Given the description of an element on the screen output the (x, y) to click on. 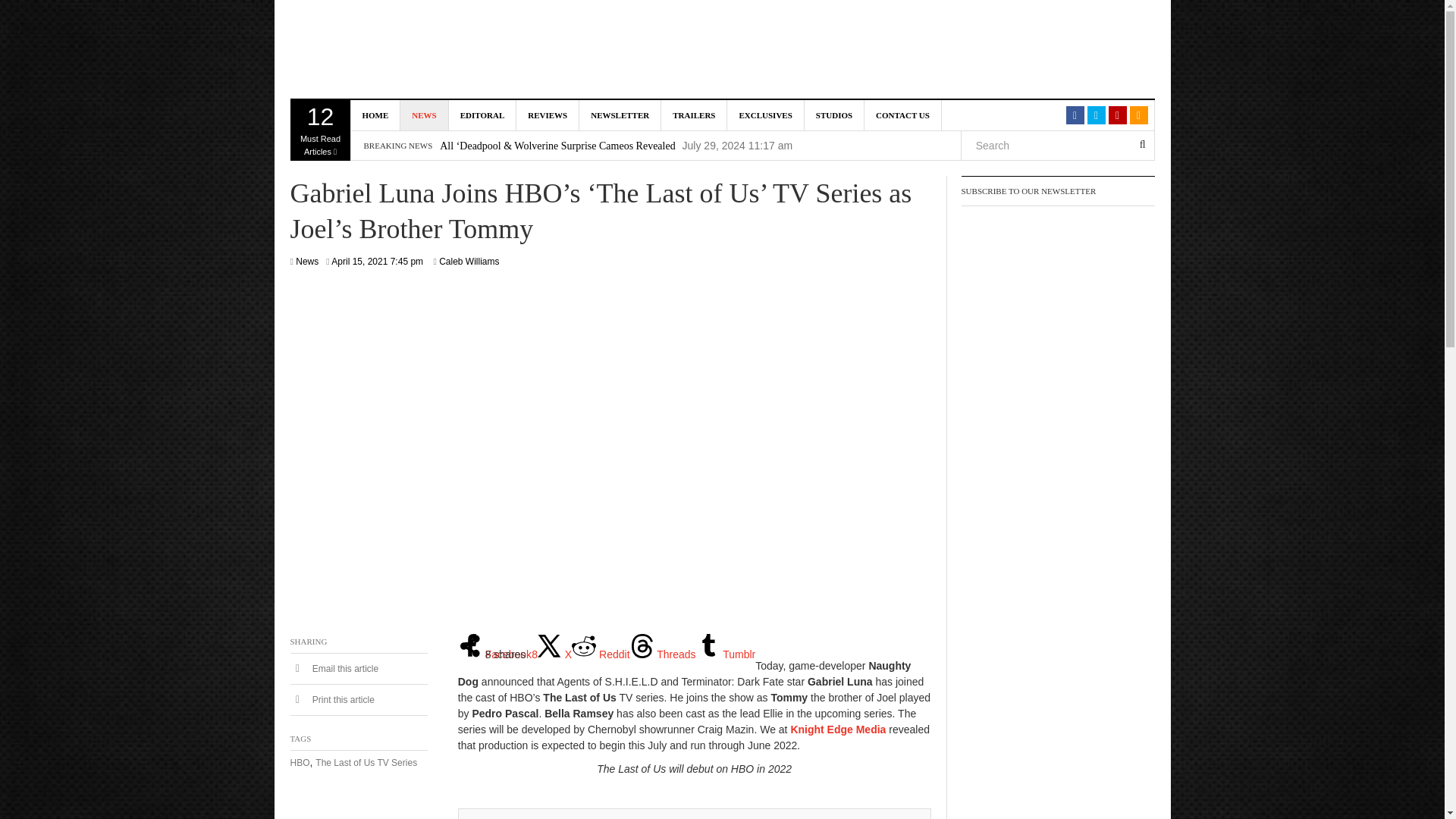
Share on Tumblr (725, 654)
HOME (375, 114)
NEWSLETTER (620, 114)
Share on Reddit (600, 654)
TRAILERS (693, 114)
Share on Facebook (497, 654)
STUDIOS (834, 114)
Knight Edge Media (423, 50)
REVIEWS (547, 114)
EDITORAL (482, 114)
CONTACT US (903, 114)
NEWS (319, 129)
EXCLUSIVES (424, 114)
Share on X (764, 114)
